Given the description of an element on the screen output the (x, y) to click on. 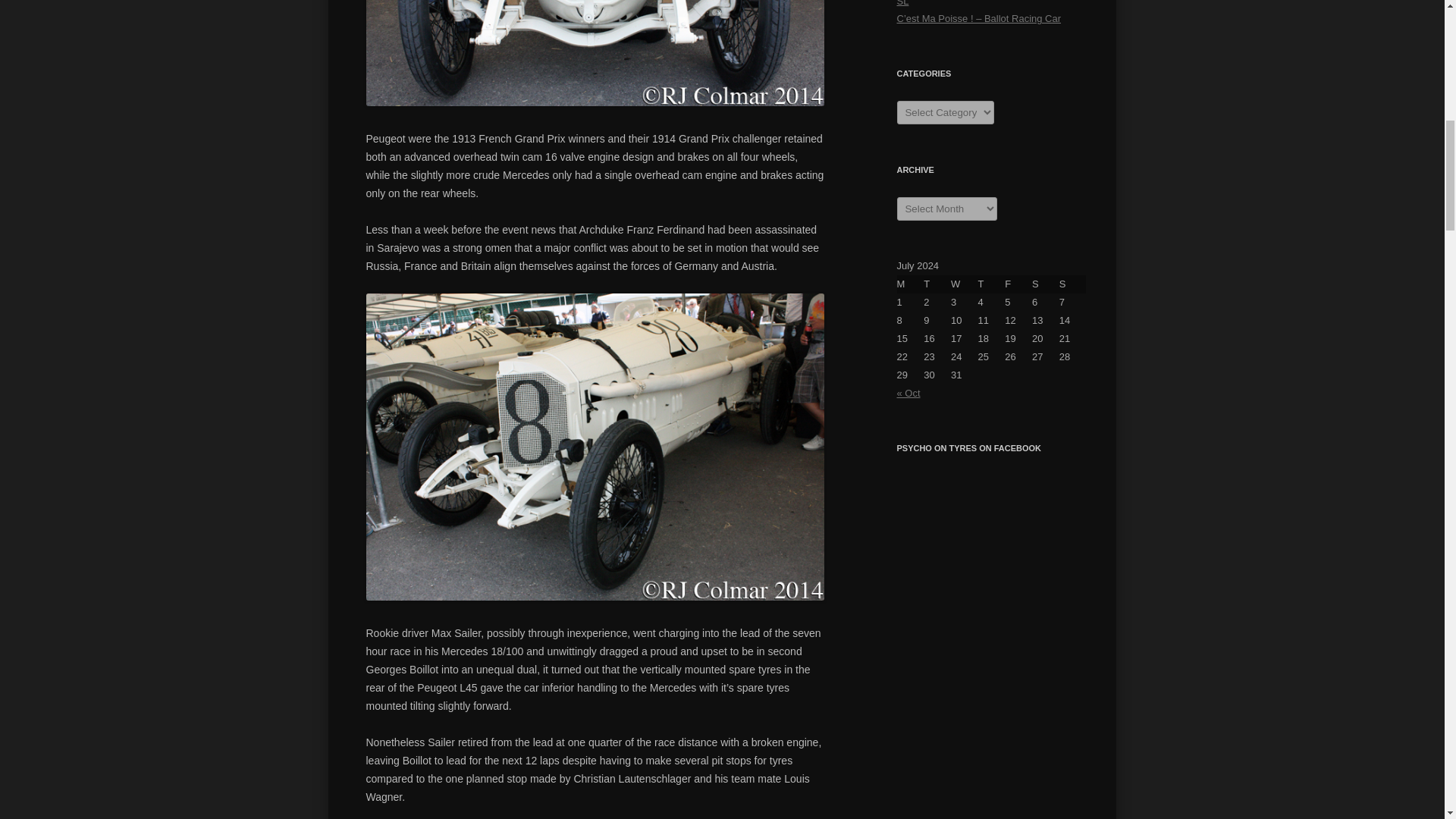
Monday (909, 284)
Tuesday (936, 284)
Wednesday (964, 284)
